Given the description of an element on the screen output the (x, y) to click on. 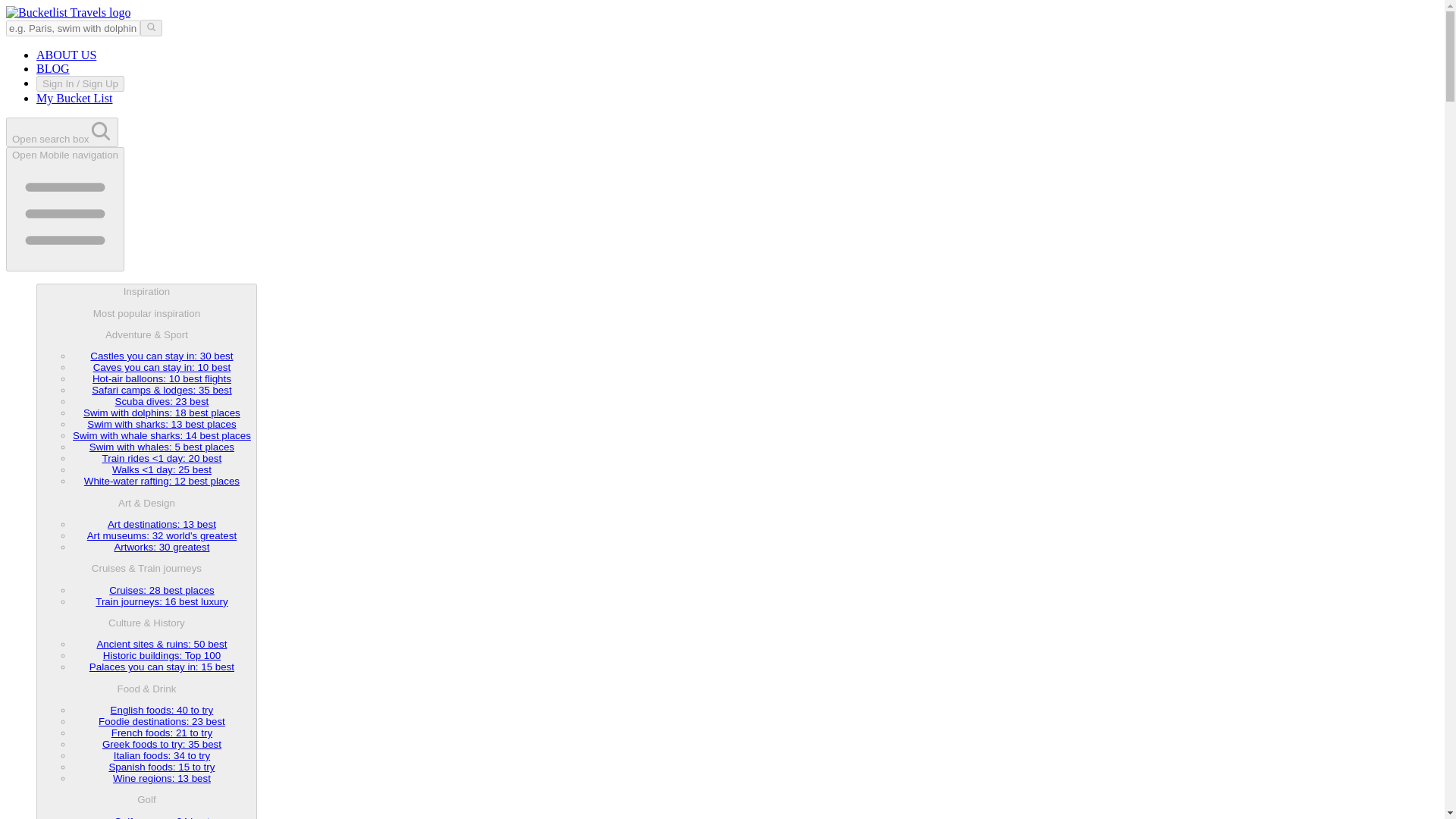
Train journeys: 16 best luxury (161, 601)
Artworks: 30 greatest (161, 546)
Castles you can stay in: 30 best (161, 355)
Art museums: 32 world's greatest (161, 535)
White-water rafting: 12 best places (162, 480)
Scuba dives: 23 best (162, 401)
Golf courses: 34 best (161, 817)
Swim with sharks: 13 best places (161, 423)
Palaces you can stay in: 15 best (161, 666)
Cruises: 28 best places (161, 590)
Hot-air balloons: 10 best flights (162, 378)
English foods: 40 to try (162, 709)
Swim with dolphins: 18 best places (161, 412)
Swim with whales: 5 best places (161, 446)
Wine regions: 13 best (162, 778)
